Given the description of an element on the screen output the (x, y) to click on. 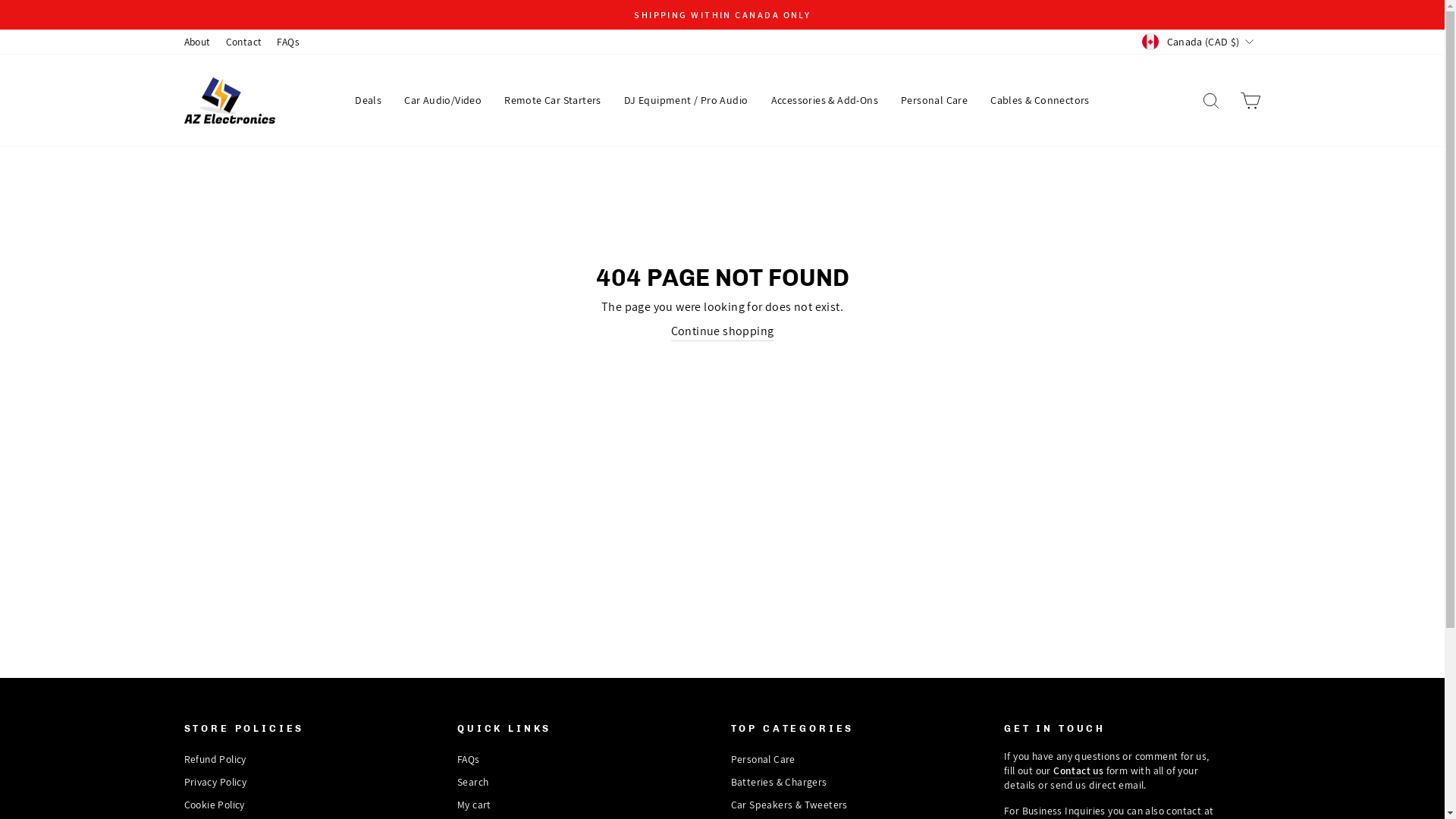
FAQs Element type: text (468, 759)
Contact Element type: text (243, 42)
Contact us Element type: text (1078, 770)
Personal Care Element type: text (934, 100)
Search Element type: text (472, 781)
Privacy Policy Element type: text (214, 781)
Batteries & Chargers Element type: text (779, 781)
Continue shopping Element type: text (722, 331)
Canada (CAD $) Element type: text (1199, 41)
Refund Policy Element type: text (214, 759)
Cookie Policy Element type: text (213, 804)
Personal Care Element type: text (763, 759)
Remote Car Starters Element type: text (552, 100)
Cart Element type: text (1249, 100)
Search Element type: text (1210, 100)
Deals Element type: text (367, 100)
About Element type: text (196, 42)
My cart Element type: text (474, 804)
Car Speakers & Tweeters Element type: text (789, 804)
FAQs Element type: text (288, 42)
